Given the description of an element on the screen output the (x, y) to click on. 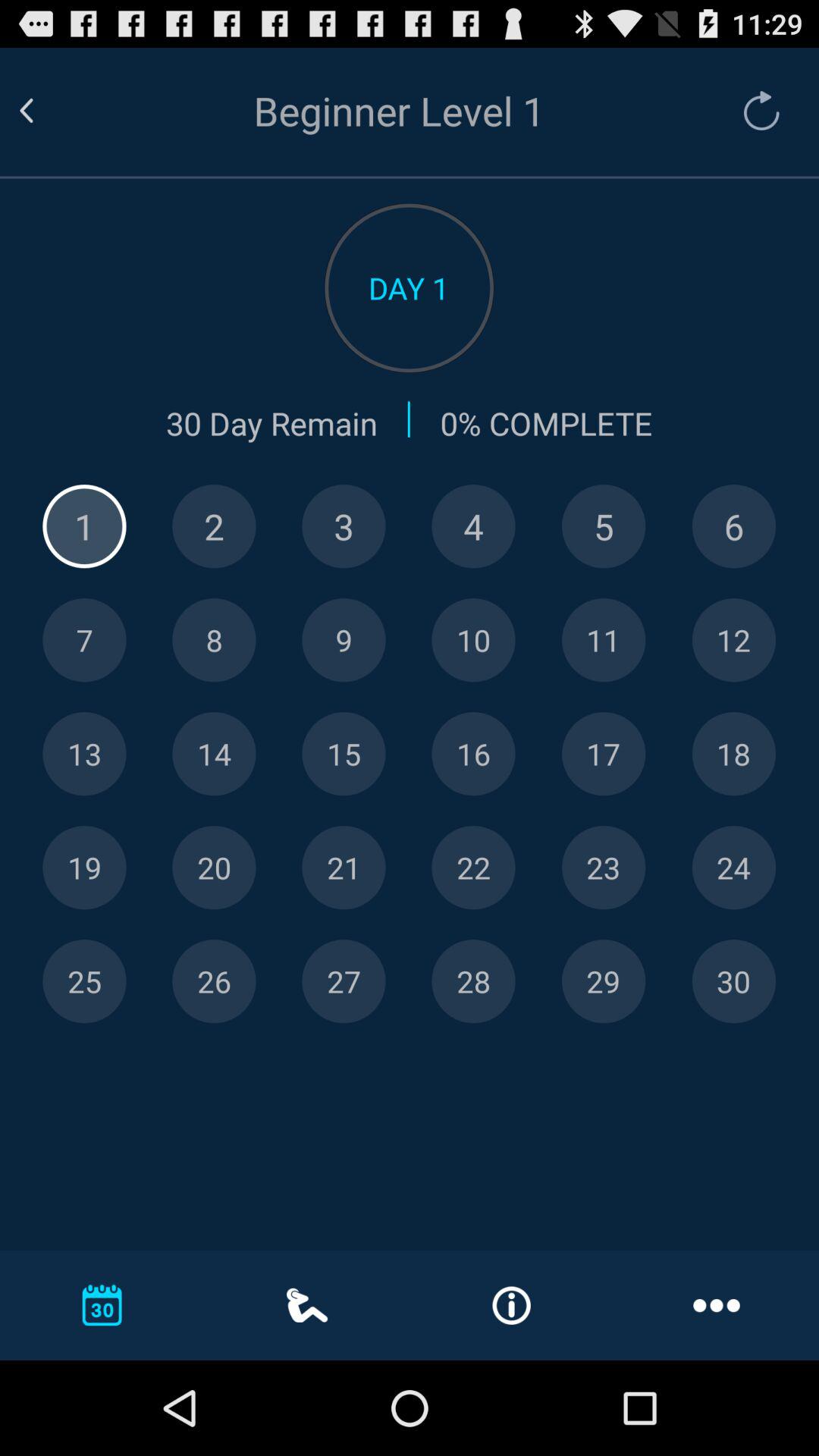
go to day 30 (733, 981)
